Given the description of an element on the screen output the (x, y) to click on. 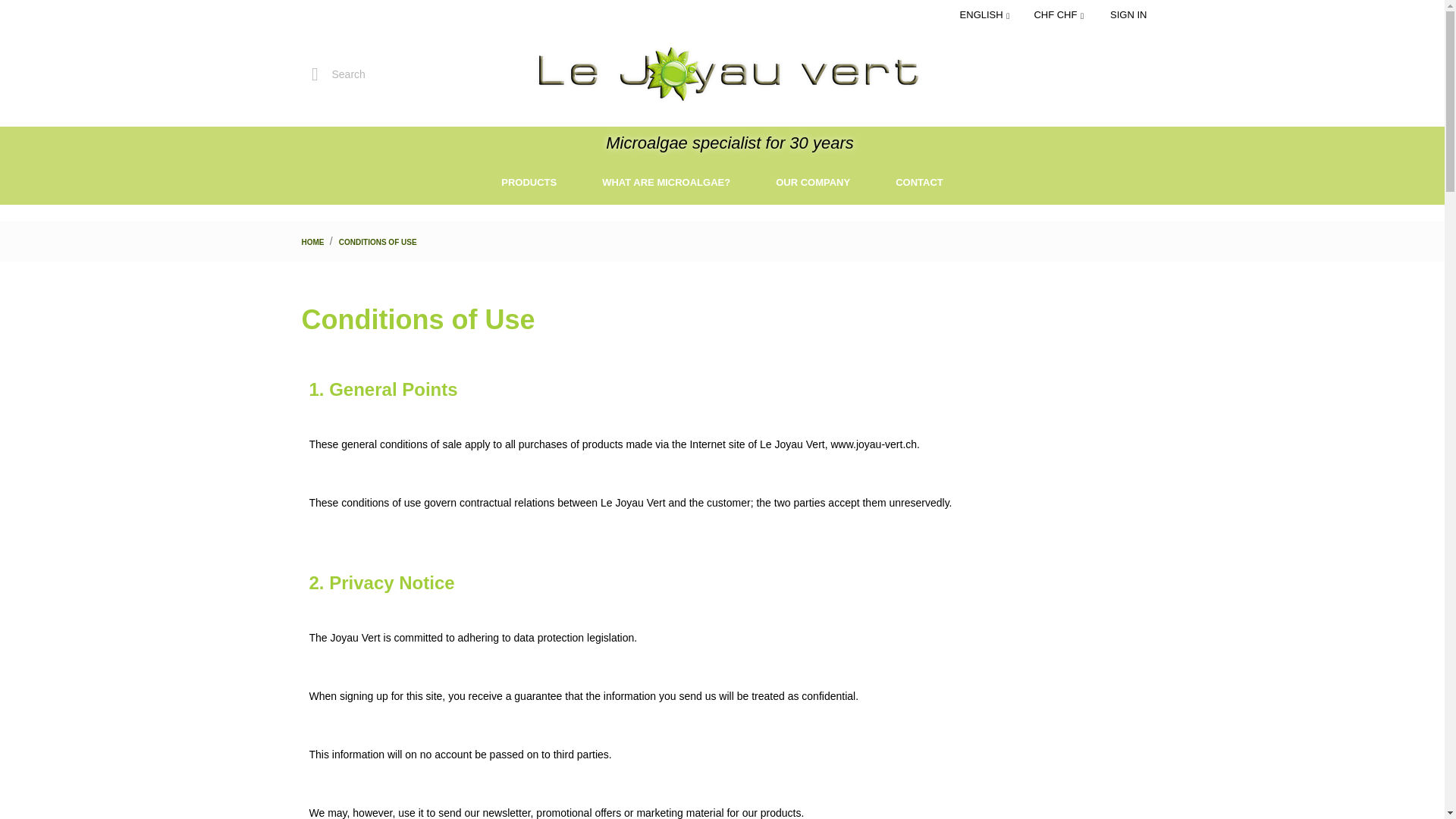
SIGN IN (1128, 14)
CONDITIONS OF USE (377, 242)
HOME (313, 242)
WHAT ARE MICROALGAE? (665, 181)
PRODUCTS (529, 181)
OUR COMPANY (812, 181)
Log in to your customer account (1128, 14)
CONTACT (919, 181)
